Given the description of an element on the screen output the (x, y) to click on. 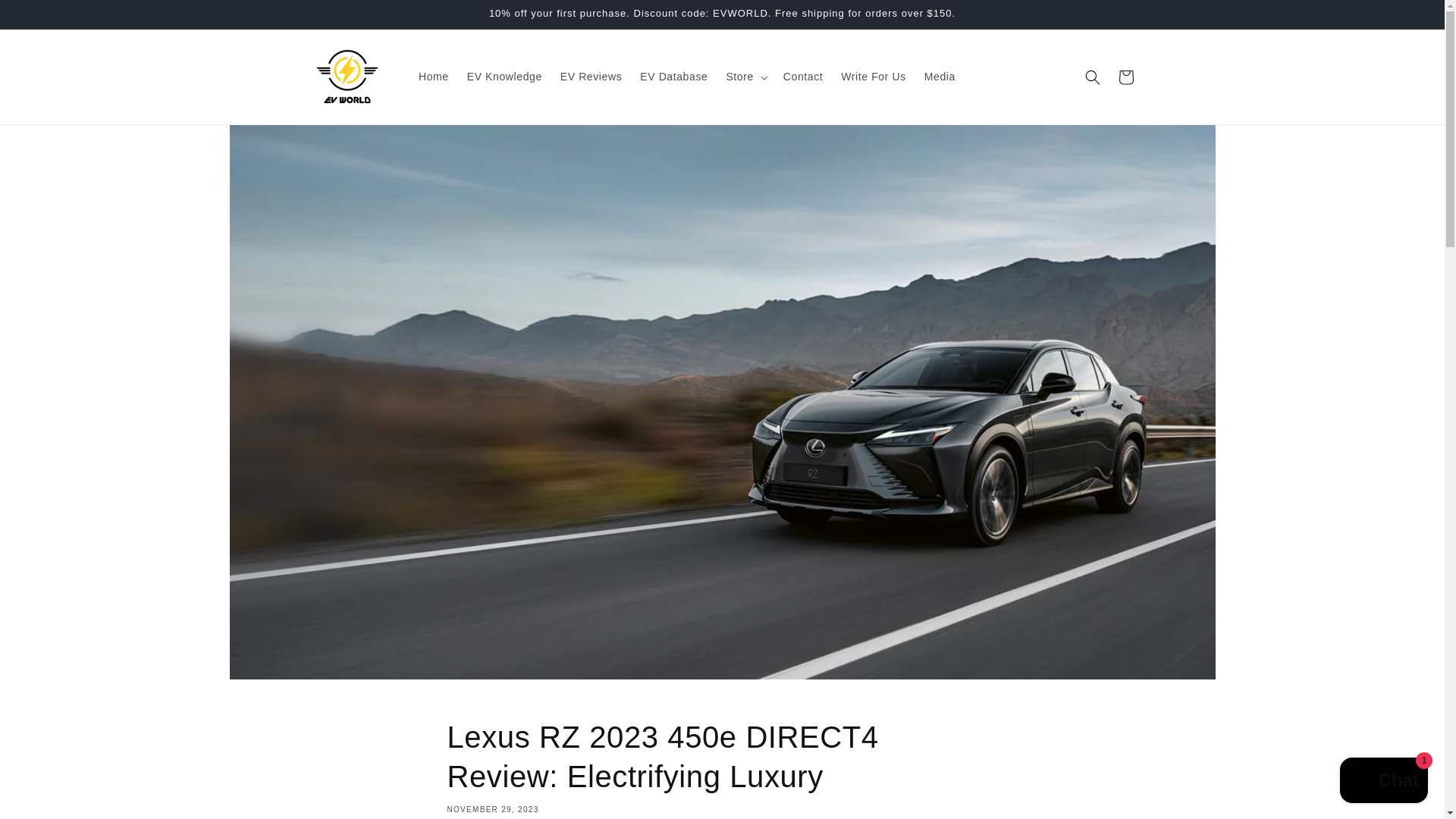
Contact (802, 76)
EV Knowledge (504, 76)
EV Reviews (590, 76)
Skip to content (45, 17)
EV Database (673, 76)
Write For Us (873, 76)
Shopify online store chat (1383, 781)
Media (939, 76)
Cart (1124, 77)
Home (433, 76)
